Given the description of an element on the screen output the (x, y) to click on. 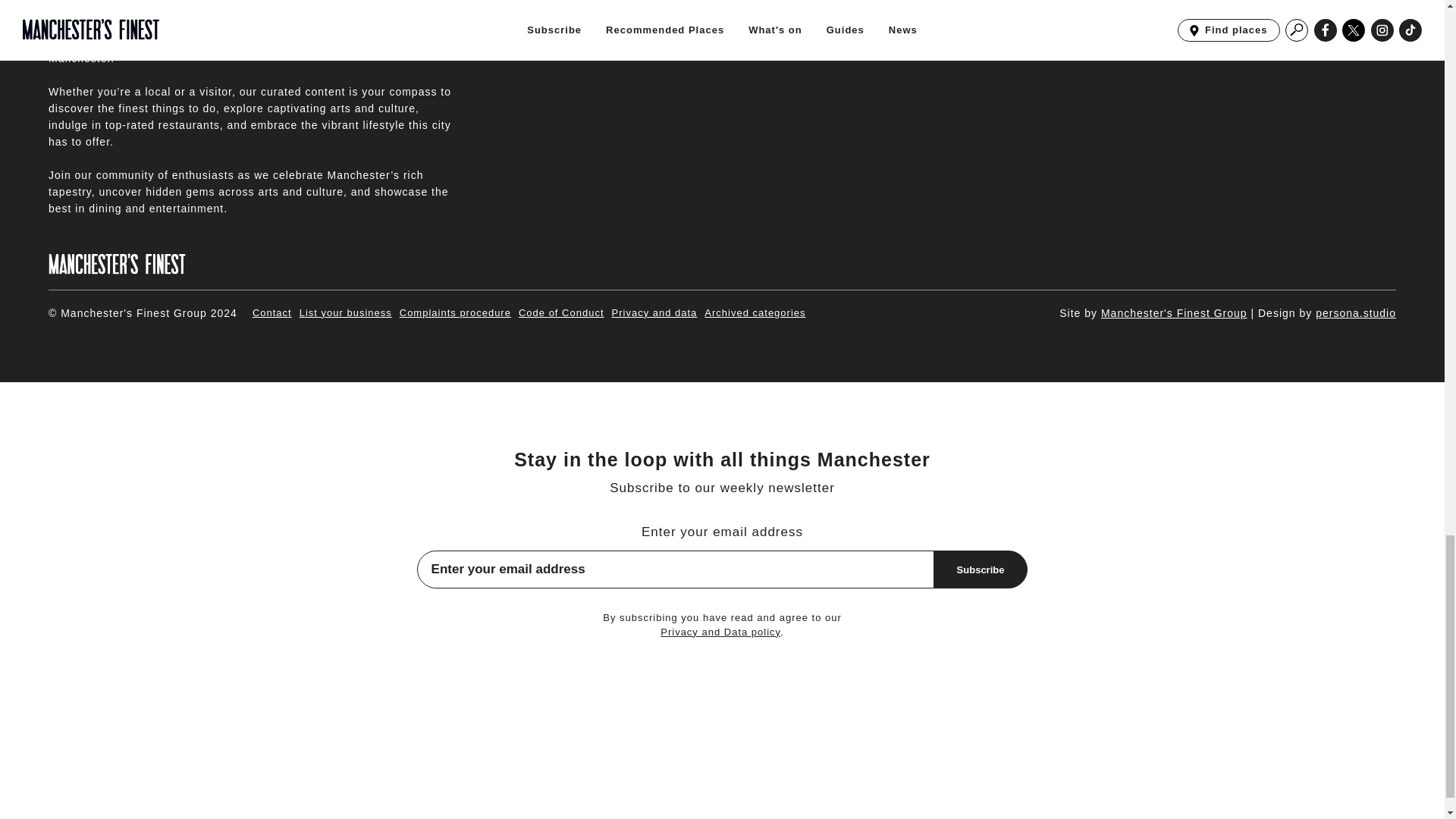
Go to Manchester's Finest Facebook page (1280, 7)
Go to Manchester's Finest X profile (1315, 7)
Go to Manchester's Finest TikTok profile (1383, 7)
Go to Manchester's Finest Instagram profile (1349, 7)
